Given the description of an element on the screen output the (x, y) to click on. 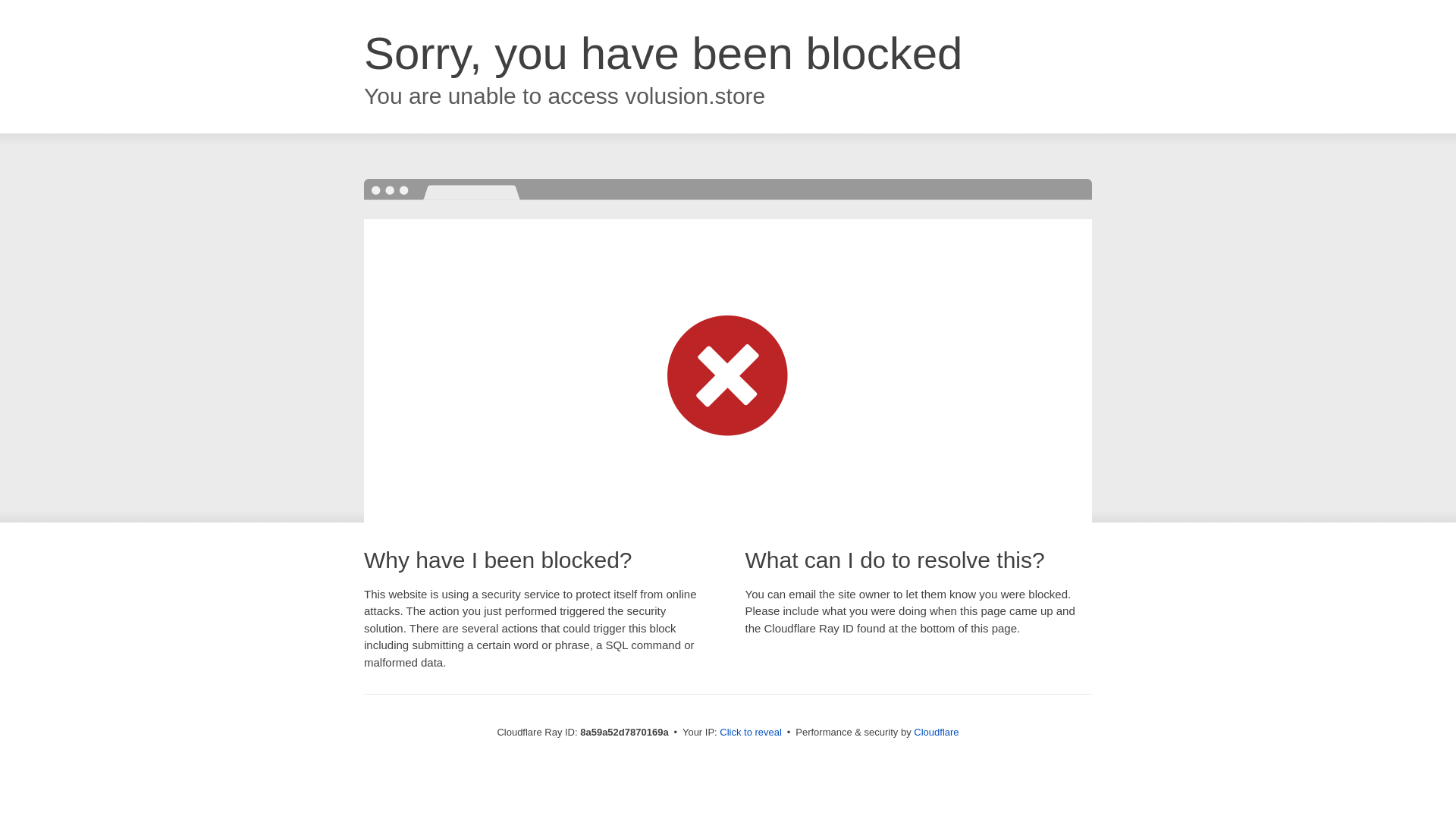
Cloudflare (936, 731)
Click to reveal (750, 732)
